Given the description of an element on the screen output the (x, y) to click on. 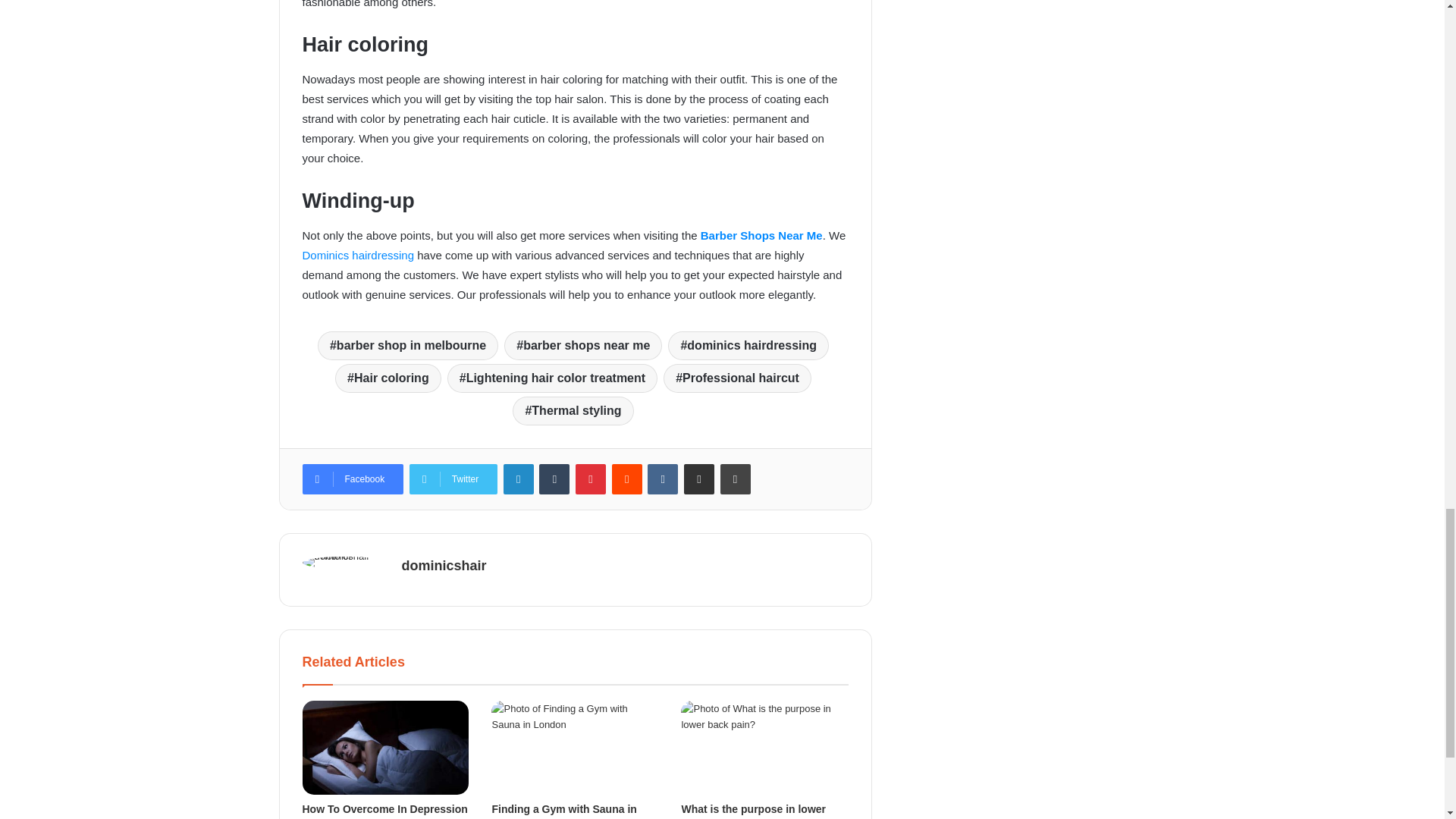
Twitter (453, 479)
Facebook (352, 479)
VKontakte (662, 479)
barber shop in melbourne (407, 345)
Tumblr (553, 479)
dominics hairdressing (748, 345)
Share via Email (699, 479)
Barber Shops Near Me (761, 235)
Pinterest (590, 479)
Dominics hairdressing (357, 254)
Hair coloring (387, 378)
Barber Shops Near Me (761, 235)
Print (735, 479)
Reddit (626, 479)
LinkedIn (518, 479)
